Given the description of an element on the screen output the (x, y) to click on. 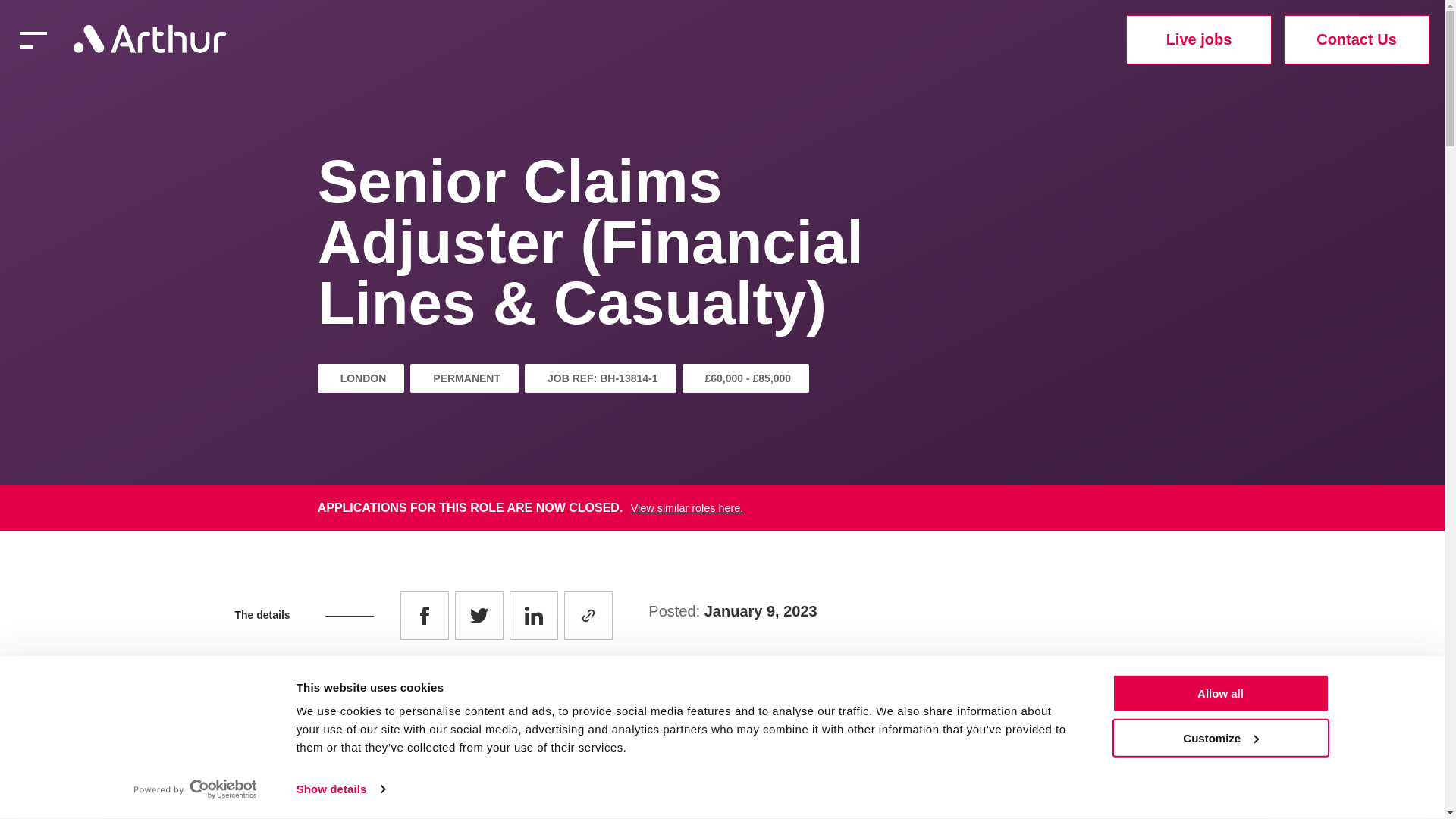
Show details (340, 789)
Customize (1219, 737)
Email page link (588, 615)
Share via Twitter (478, 615)
Share via Facebook (424, 615)
Share via LinkedIn (533, 615)
Allow all (1219, 693)
